Given the description of an element on the screen output the (x, y) to click on. 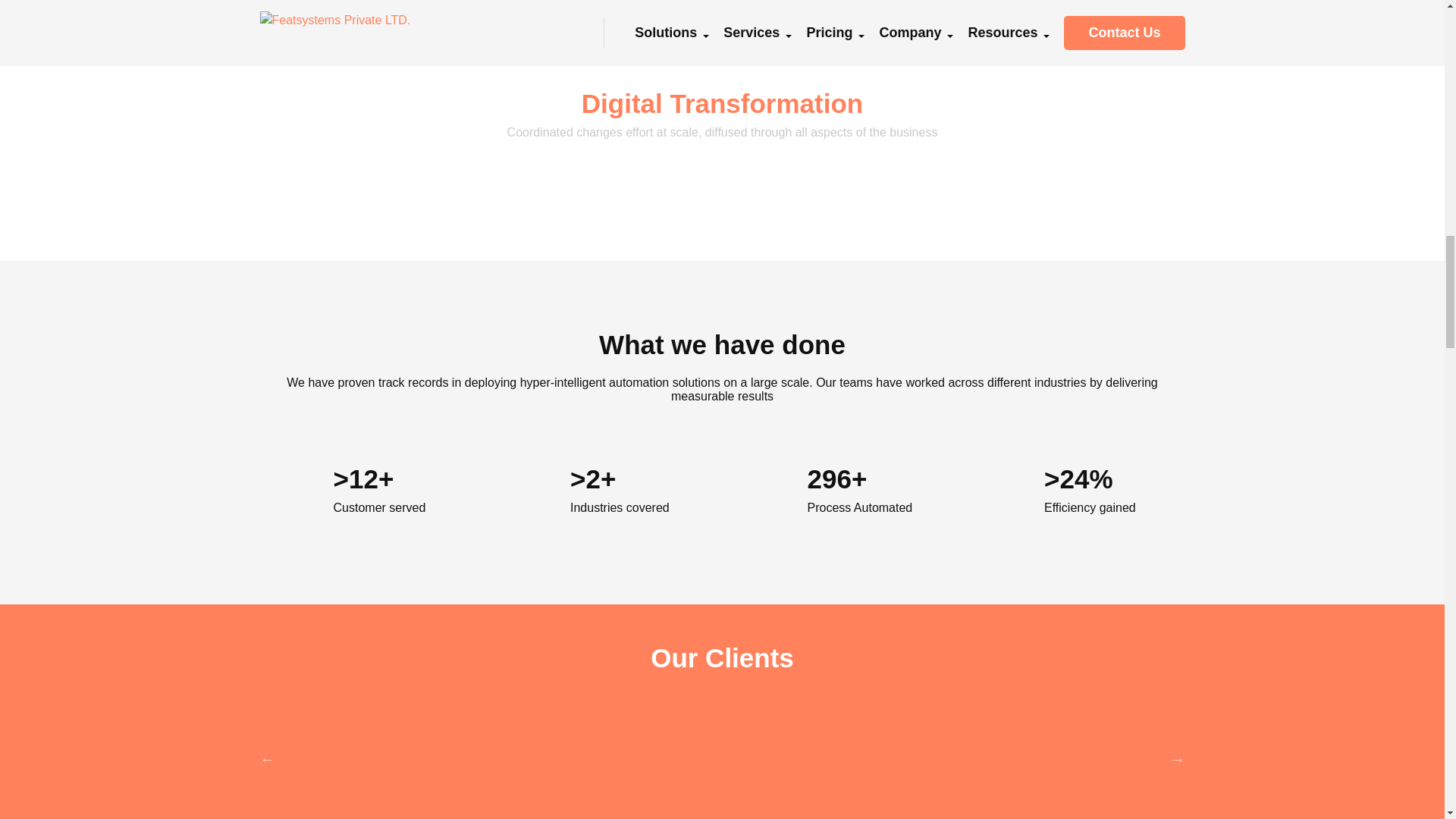
Previous (267, 758)
Next (1177, 758)
